Given the description of an element on the screen output the (x, y) to click on. 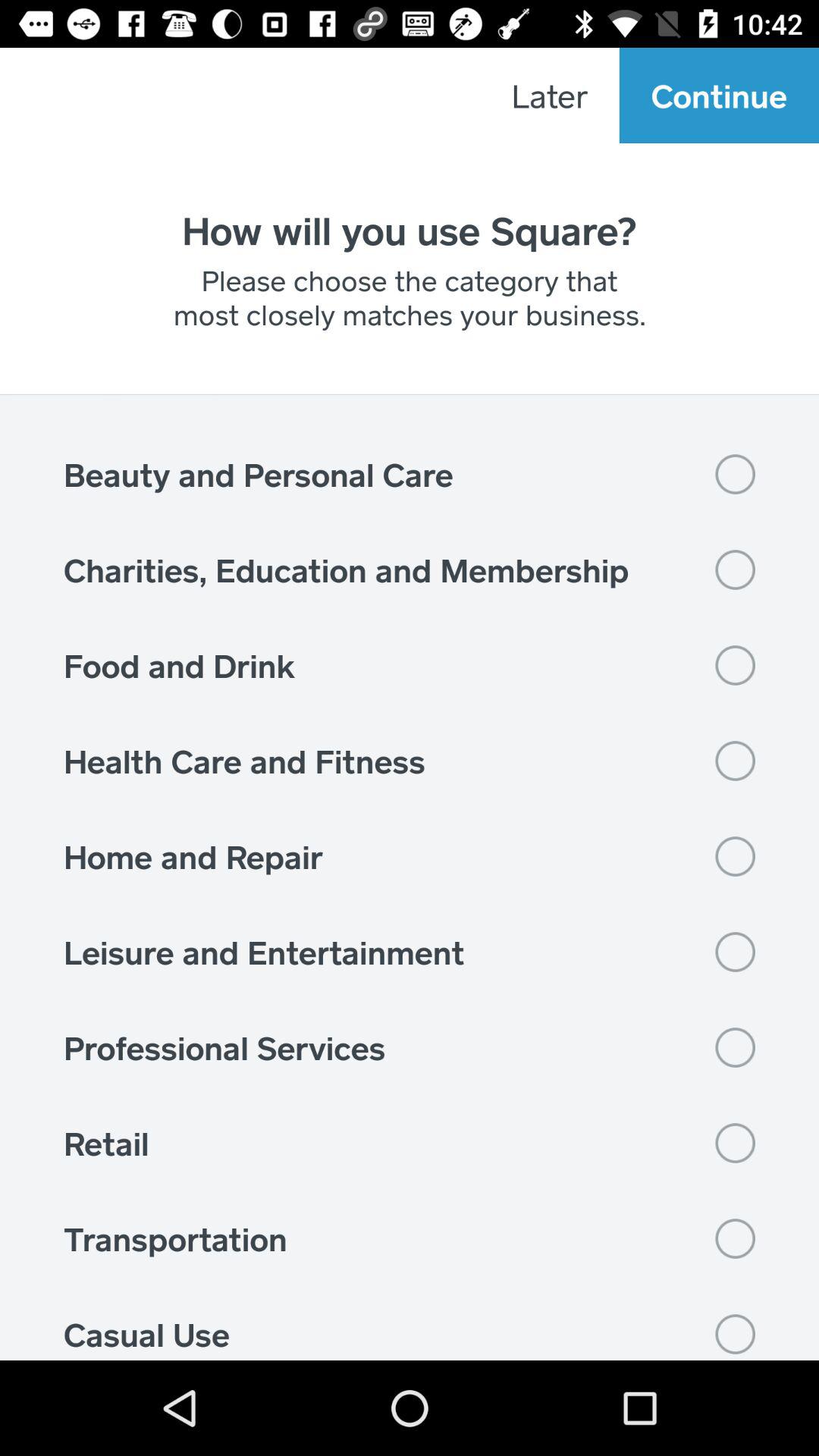
select the continue (719, 95)
